Given the description of an element on the screen output the (x, y) to click on. 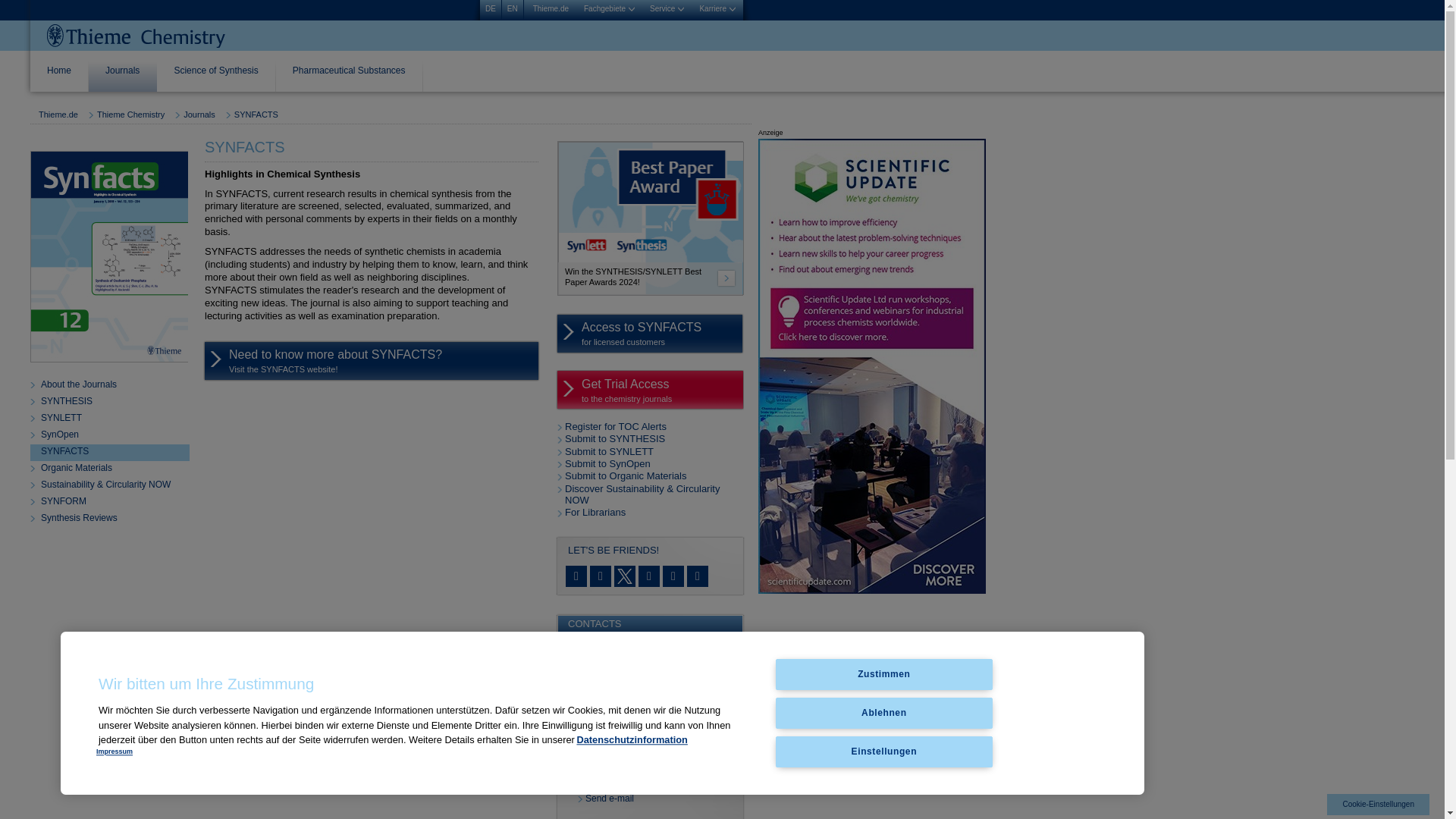
Karriere (716, 8)
Journals (122, 76)
Service (666, 8)
Thieme (135, 35)
DE (490, 8)
Thieme.de (550, 8)
Fachgebiete (608, 8)
Home (59, 76)
Thieme.de (550, 8)
Karriere (716, 8)
Service (666, 8)
Deutsch (490, 8)
Fachgebiete (608, 8)
